Given the description of an element on the screen output the (x, y) to click on. 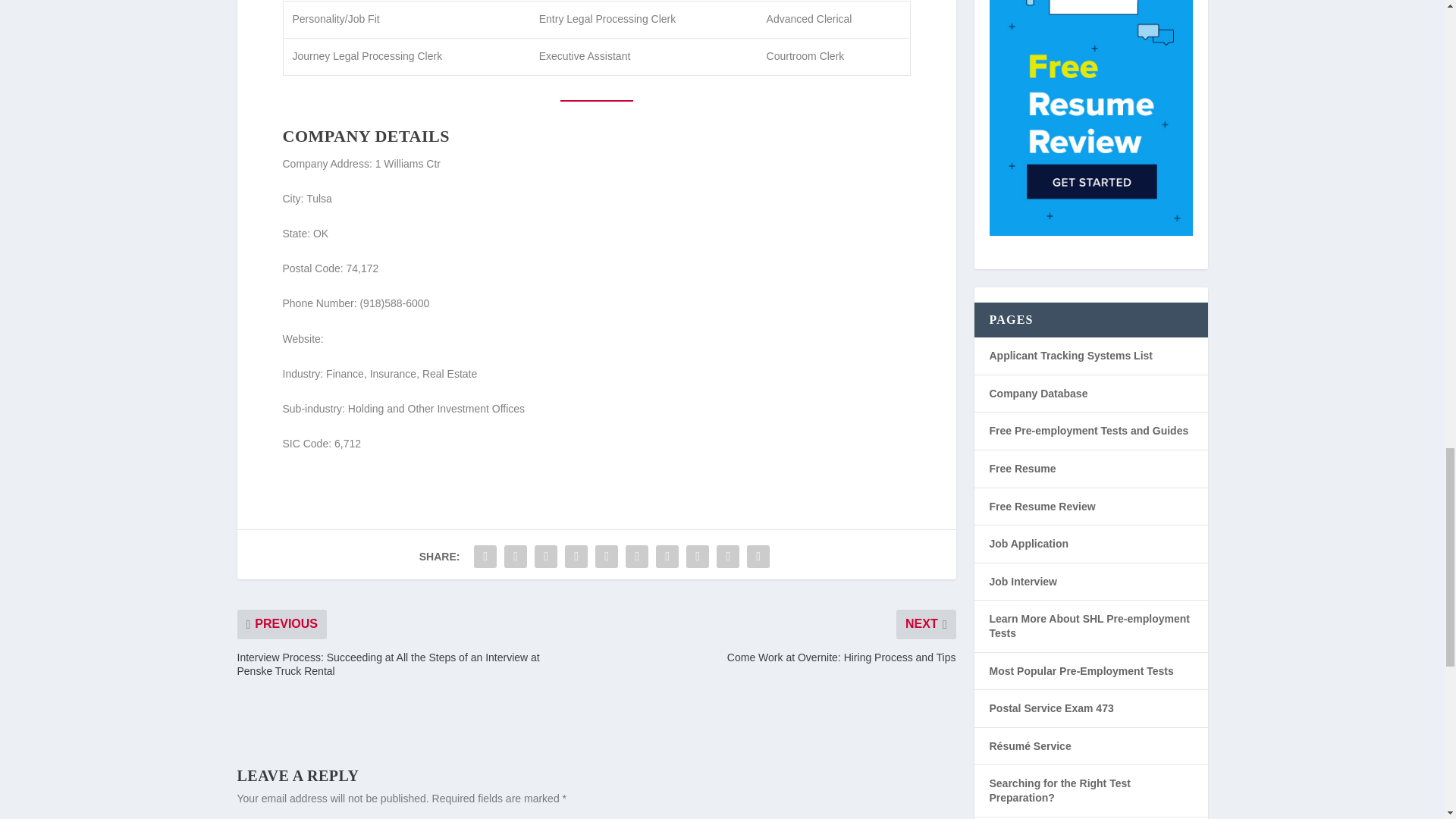
Share "How Do I Get a Position at BOK Financial?" via Tumblr (575, 556)
Share "How Do I Get a Position at BOK Financial?" via Buffer (667, 556)
Share "How Do I Get a Position at BOK Financial?" via Email (727, 556)
Share "How Do I Get a Position at BOK Financial?" via Print (757, 556)
